Given the description of an element on the screen output the (x, y) to click on. 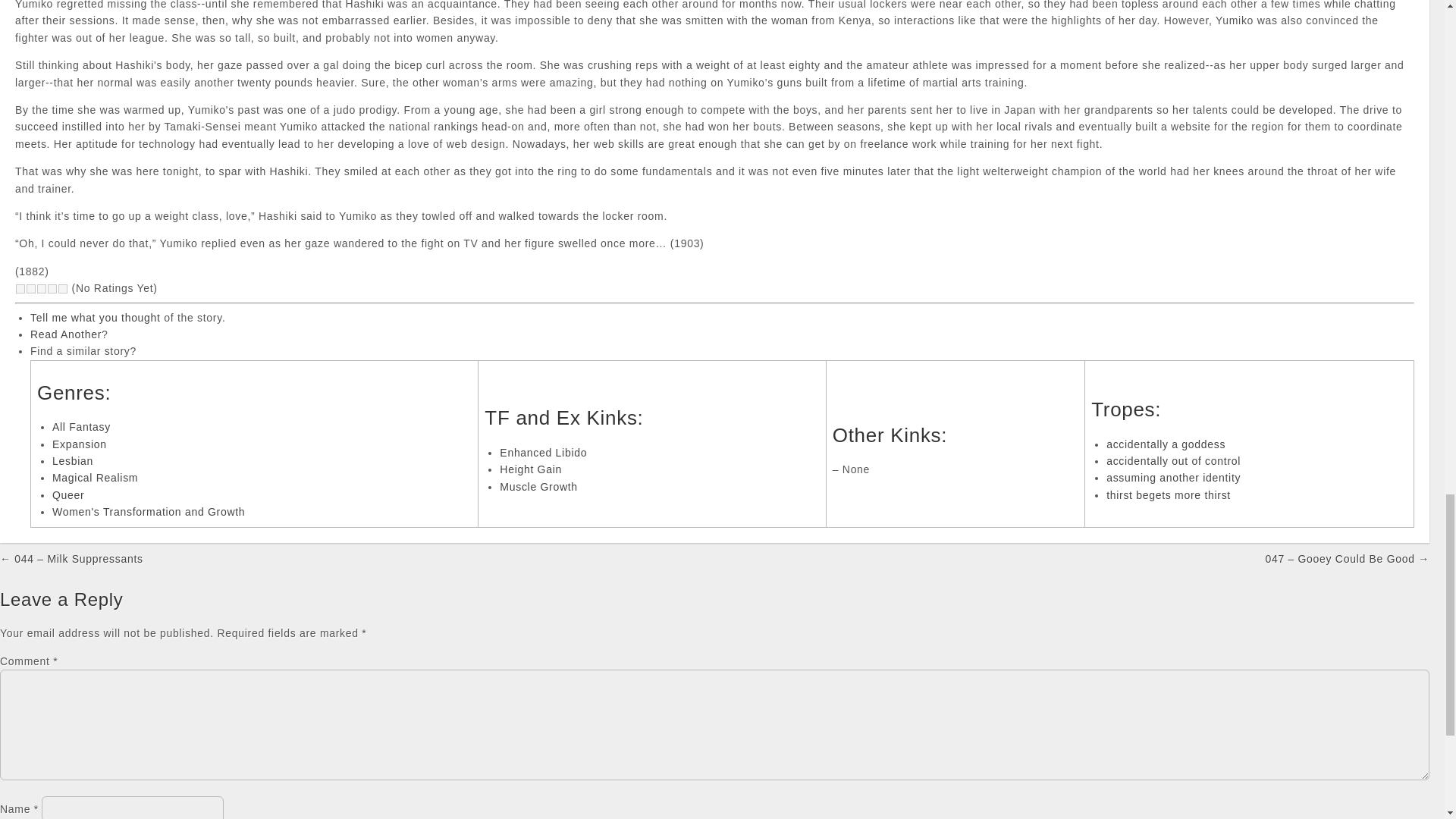
Magical Realism (95, 477)
All Fantasy (81, 426)
5 Stars (63, 288)
Expansion (79, 444)
Enhanced Libido (542, 452)
Lesbian (72, 460)
1 Star (20, 288)
2 Stars (31, 288)
Tell me what you thought (95, 316)
3 Stars (41, 288)
4 Stars (52, 288)
Queer (68, 494)
Women's Transformation and Growth (148, 511)
Read Another (65, 334)
